Given the description of an element on the screen output the (x, y) to click on. 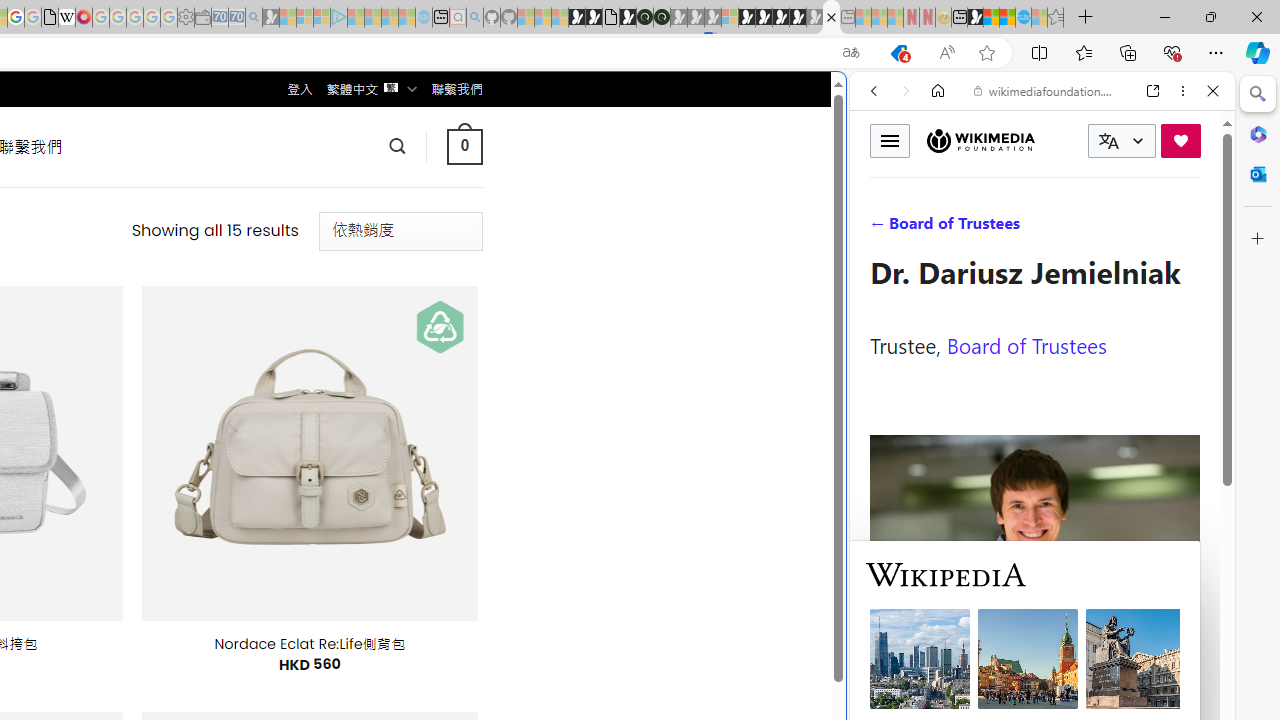
IMAGES (939, 228)
Microsoft Start - Sleeping (389, 17)
Home | Sky Blue Bikes - Sky Blue Bikes - Sleeping (424, 17)
WEB   (882, 228)
Global web icon (888, 669)
